Given the description of an element on the screen output the (x, y) to click on. 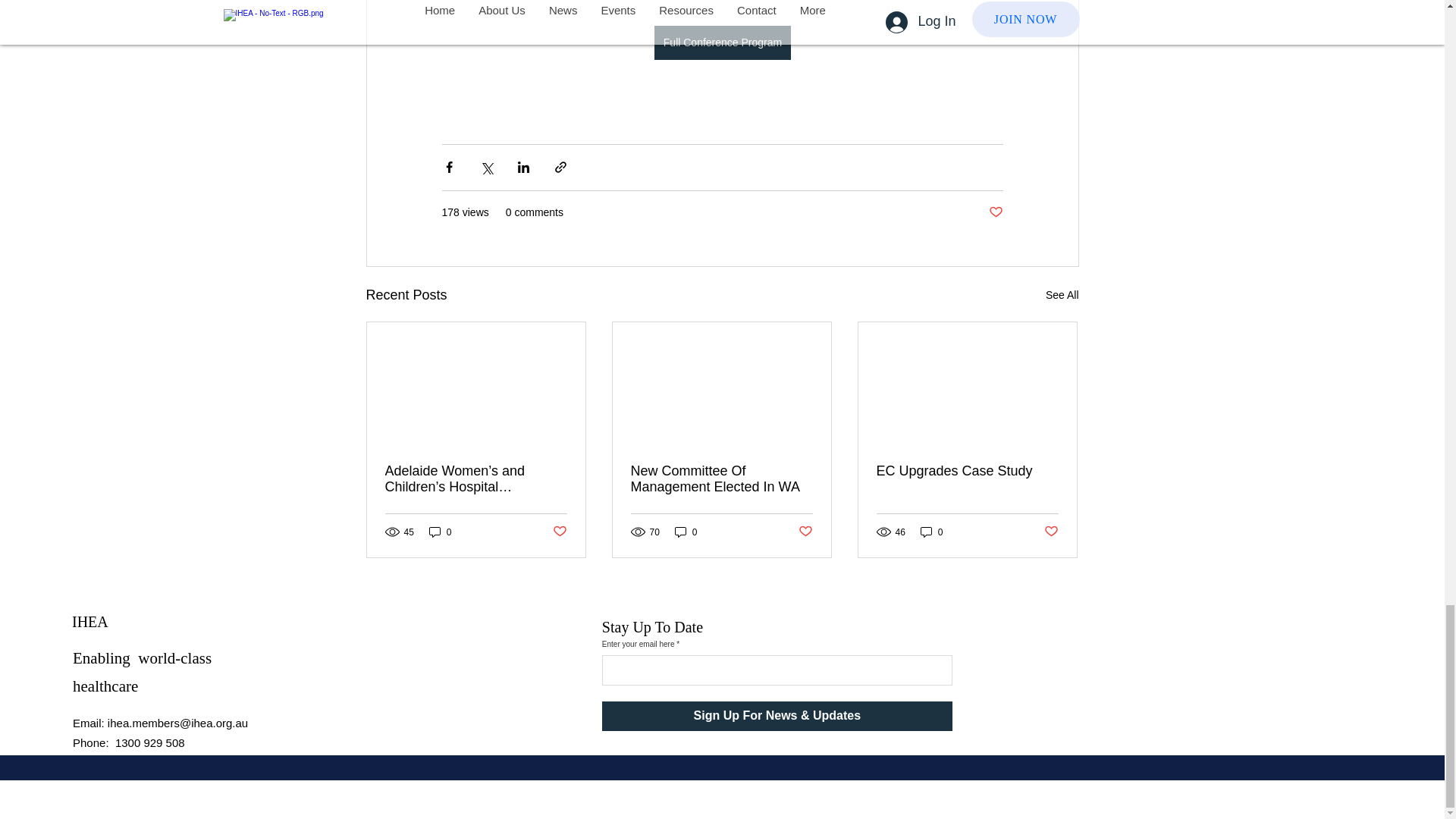
0 (440, 531)
Post not marked as liked (995, 212)
Full Conference Program (721, 42)
Post not marked as liked (558, 531)
Post not marked as liked (804, 531)
See All (1061, 295)
New Committee Of Management Elected In WA (721, 479)
0 (685, 531)
EC Upgrades Case Study (967, 471)
